Given the description of an element on the screen output the (x, y) to click on. 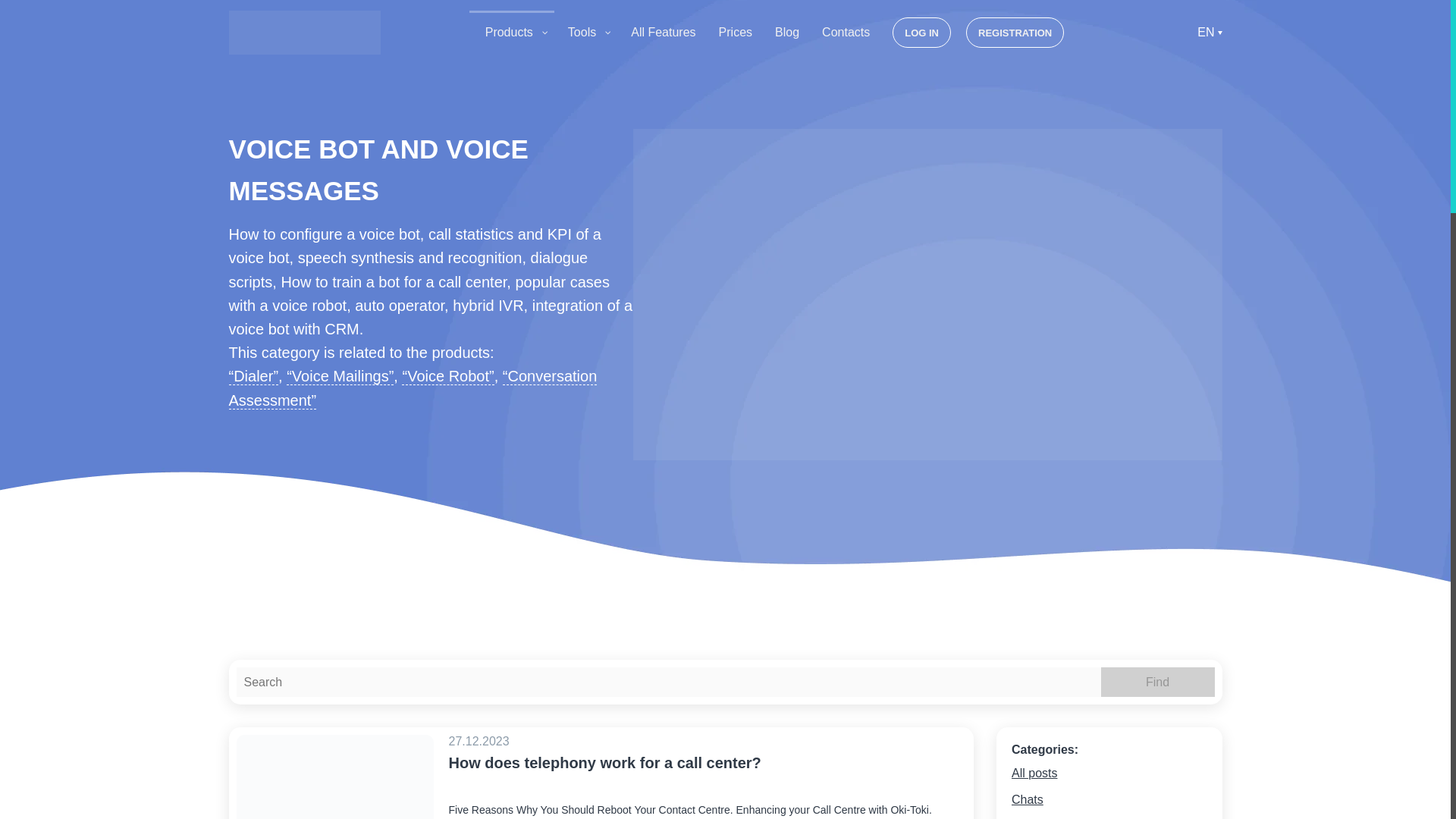
Blog (786, 32)
Products (515, 32)
LOG IN (921, 32)
En (1208, 32)
All Features (663, 32)
How does telephony work for a call center? (707, 776)
Find (1157, 681)
Find (1157, 681)
Contacts (845, 32)
Tools (588, 32)
